Given the description of an element on the screen output the (x, y) to click on. 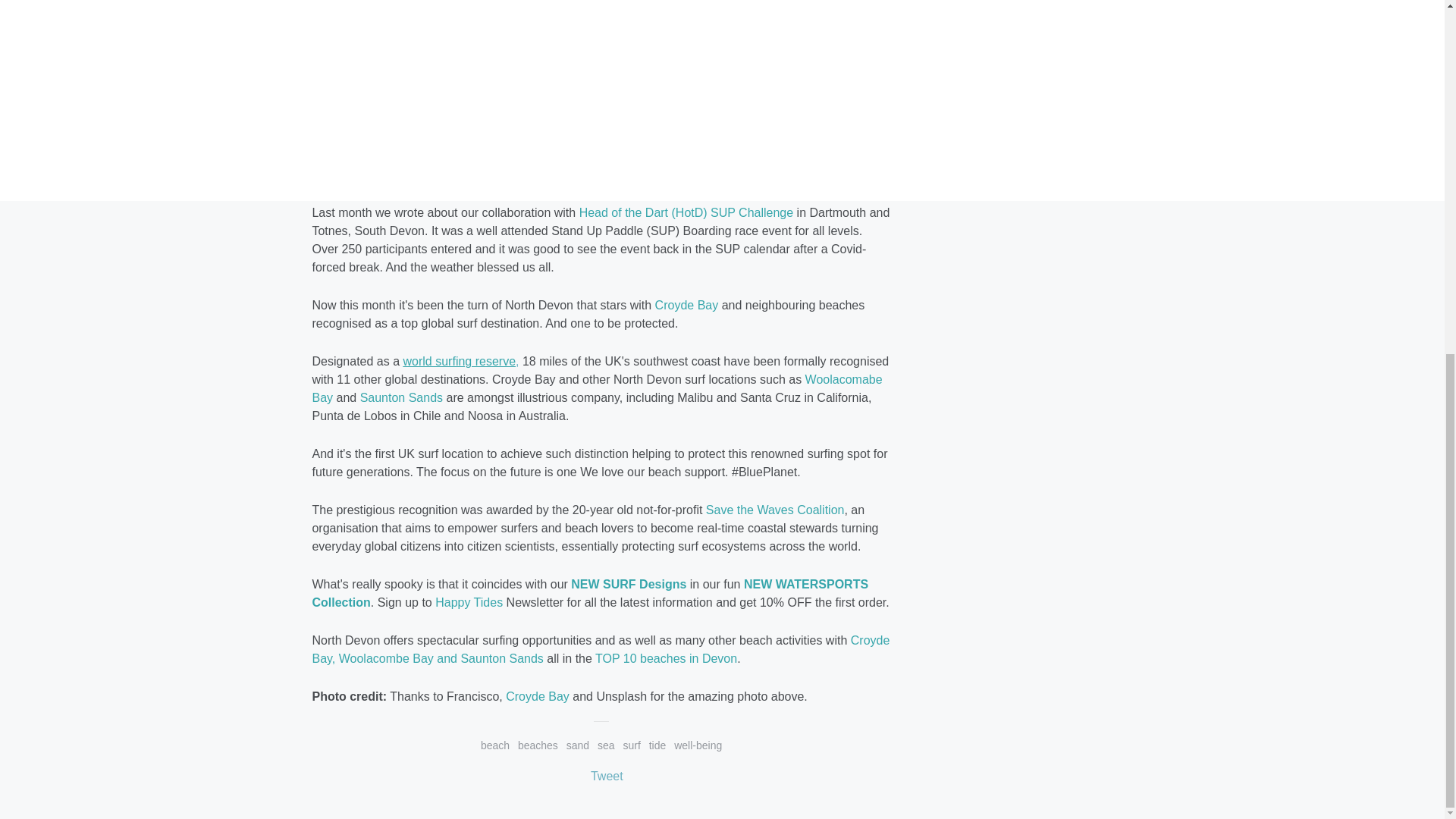
Happy Tides (470, 602)
Save the Waves Coalition  (775, 509)
Head of the Dart SUP Challenge (686, 212)
Saunton Sands (400, 397)
Woolacombe Bay  (596, 388)
